Given the description of an element on the screen output the (x, y) to click on. 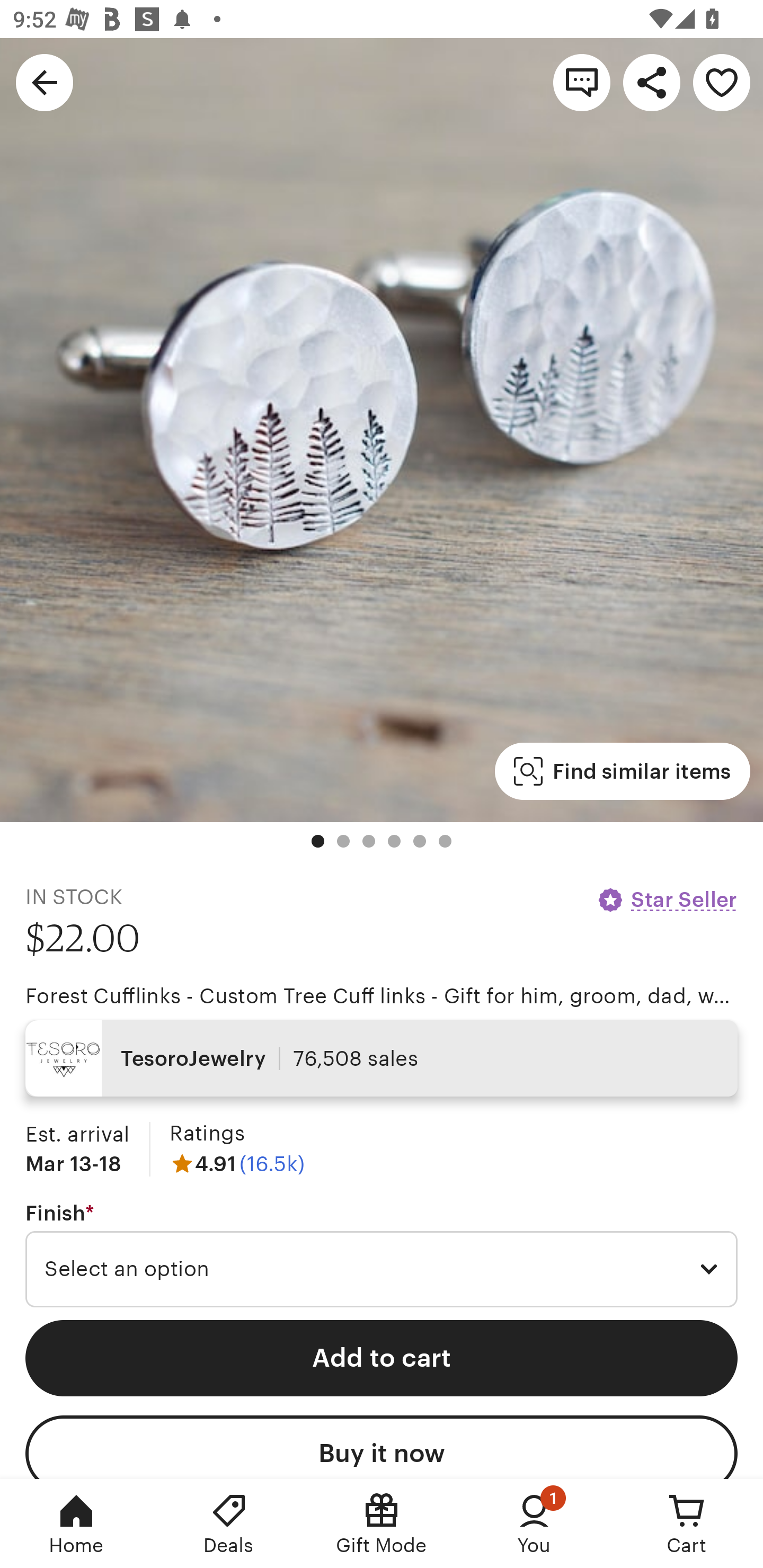
Navigate up (44, 81)
Contact shop (581, 81)
Share (651, 81)
Find similar items (622, 771)
Star Seller (666, 899)
TesoroJewelry 76,508 sales (381, 1058)
Ratings (206, 1133)
4.91 (16.5k) (237, 1163)
Finish * Required Select an option (381, 1254)
Select an option (381, 1268)
Add to cart (381, 1358)
Buy it now (381, 1446)
Deals (228, 1523)
Gift Mode (381, 1523)
You, 1 new notification You (533, 1523)
Cart (686, 1523)
